Given the description of an element on the screen output the (x, y) to click on. 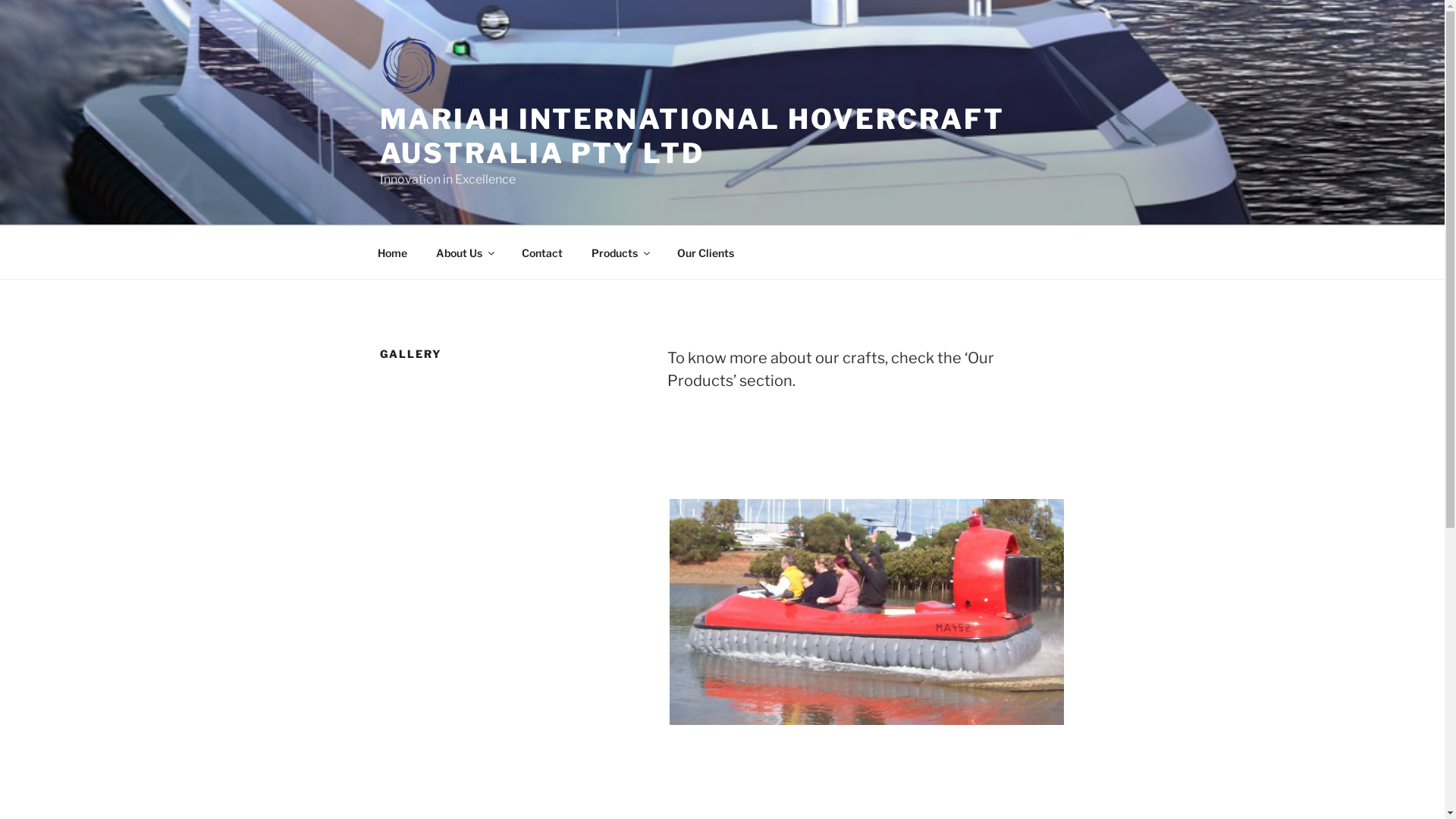
Typhoon 250 (Top) Element type: hover (866, 611)
Contact Element type: text (541, 251)
Our Clients Element type: text (705, 251)
About Us Element type: text (464, 251)
MARIAH INTERNATIONAL HOVERCRAFT AUSTRALIA PTY LTD Element type: text (691, 135)
Products Element type: text (619, 251)
Home Element type: text (392, 251)
